Given the description of an element on the screen output the (x, y) to click on. 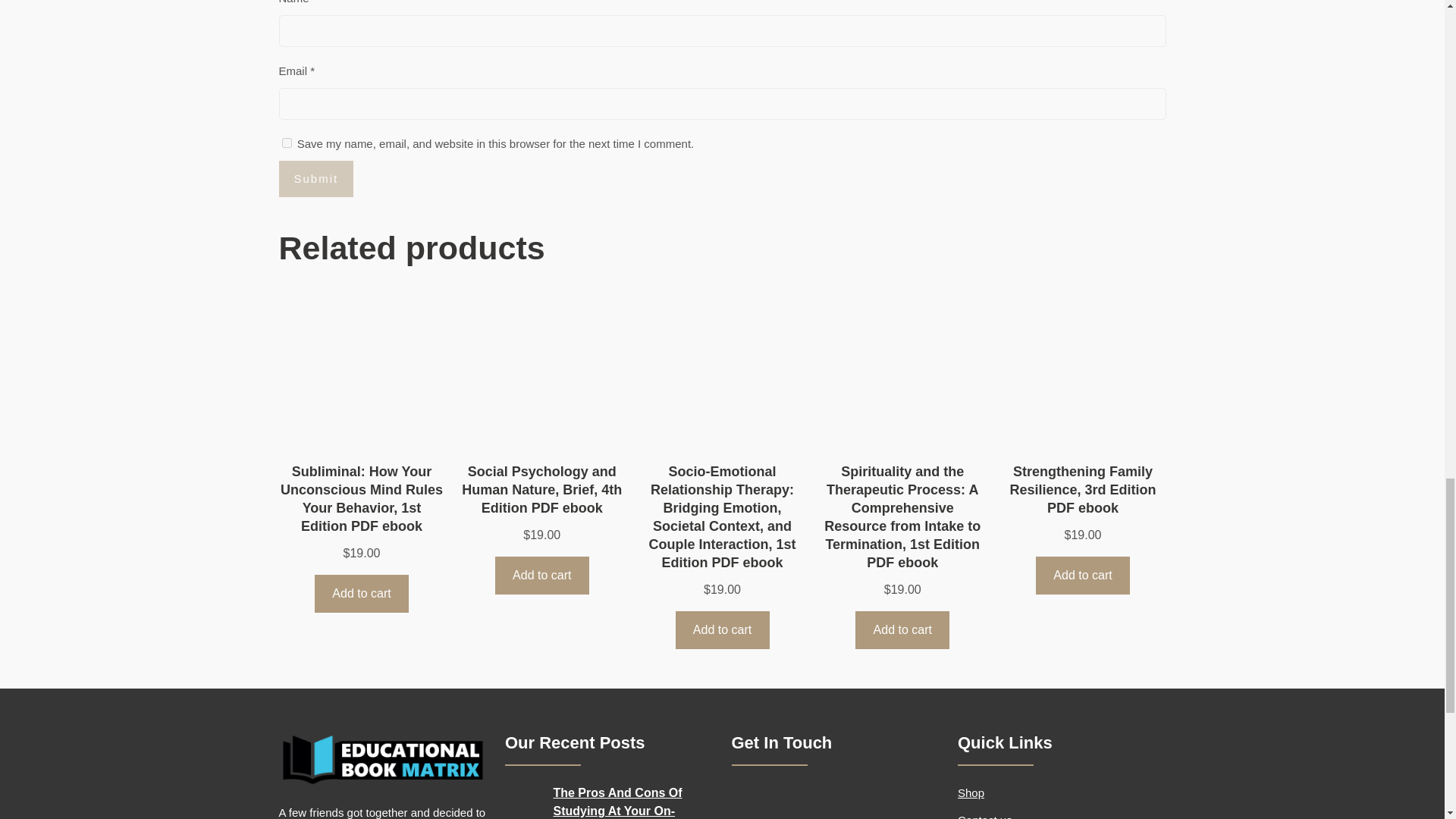
Add to cart (1082, 574)
Add to cart (361, 592)
Add to cart (721, 629)
Shop (971, 792)
Add to cart (902, 629)
Add to cart (542, 574)
The Pros And Cons Of Studying At Your On-Campus Apartment (633, 801)
Contact us (984, 816)
Submit (316, 178)
yes (287, 143)
Submit (316, 178)
